Given the description of an element on the screen output the (x, y) to click on. 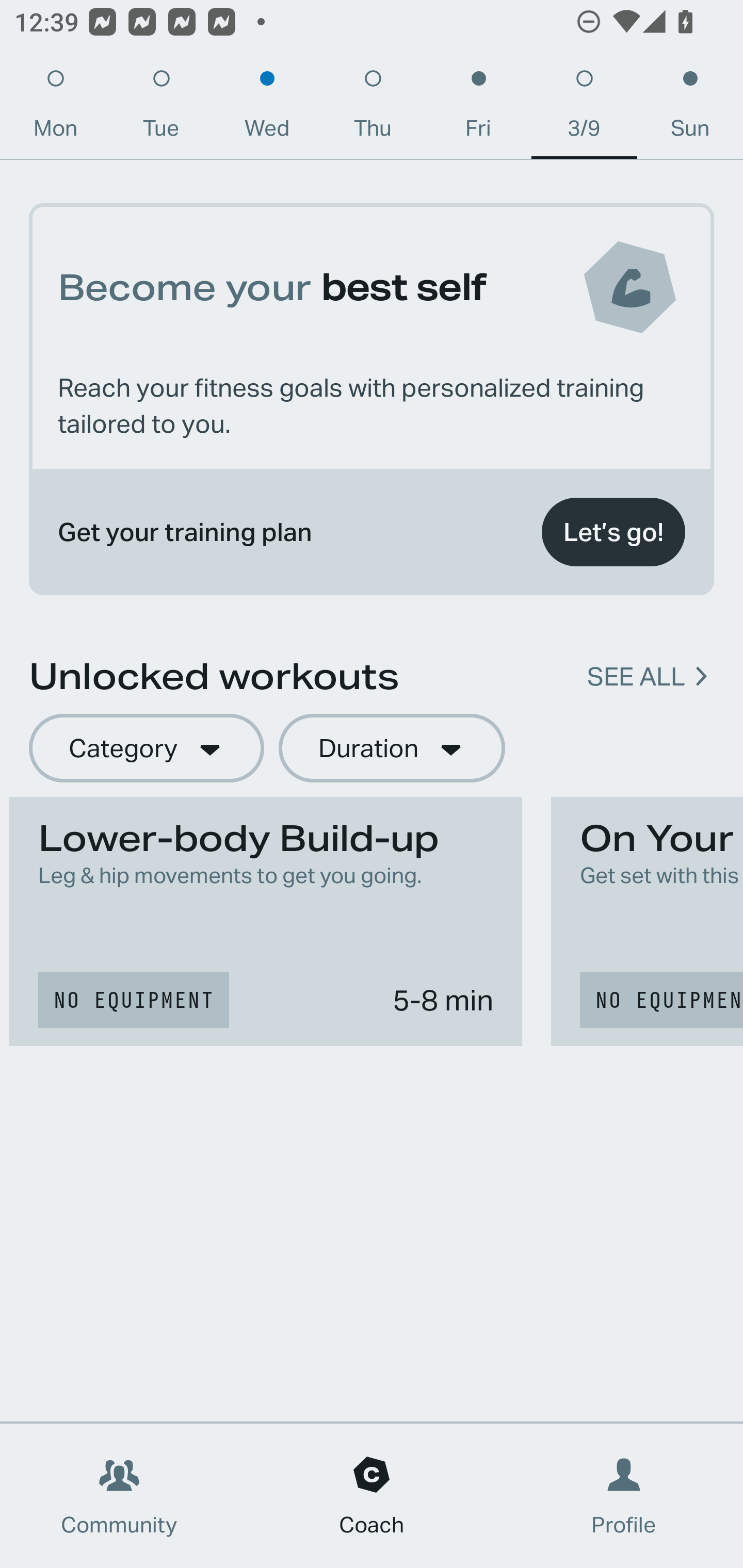
Mon (55, 108)
Tue (160, 108)
Wed (266, 108)
Thu (372, 108)
Fri (478, 108)
3/9 (584, 108)
Sun (690, 108)
Let’s go! (613, 532)
SEE ALL (635, 676)
Category (146, 748)
Duration (391, 748)
Community (119, 1495)
Profile (624, 1495)
